Given the description of an element on the screen output the (x, y) to click on. 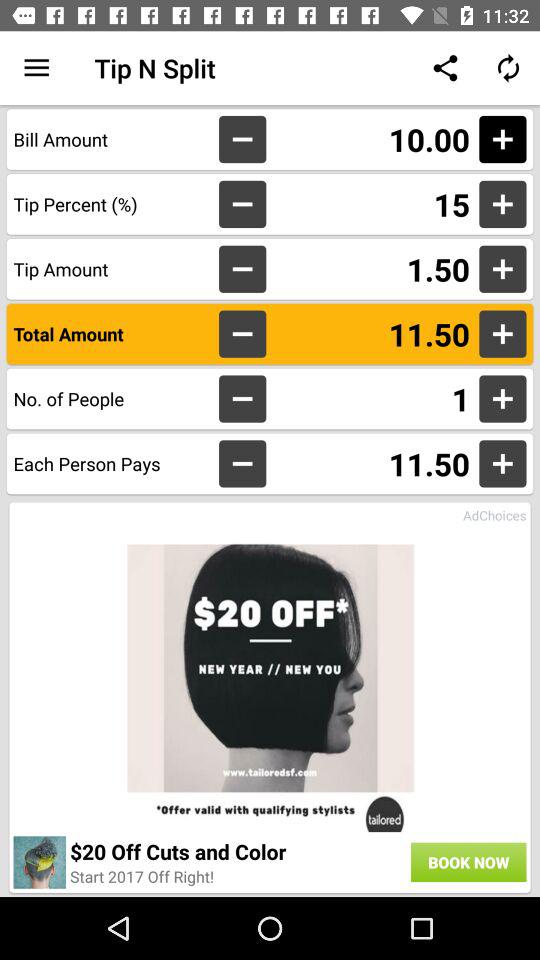
turn on the item above the 15 icon (372, 139)
